Given the description of an element on the screen output the (x, y) to click on. 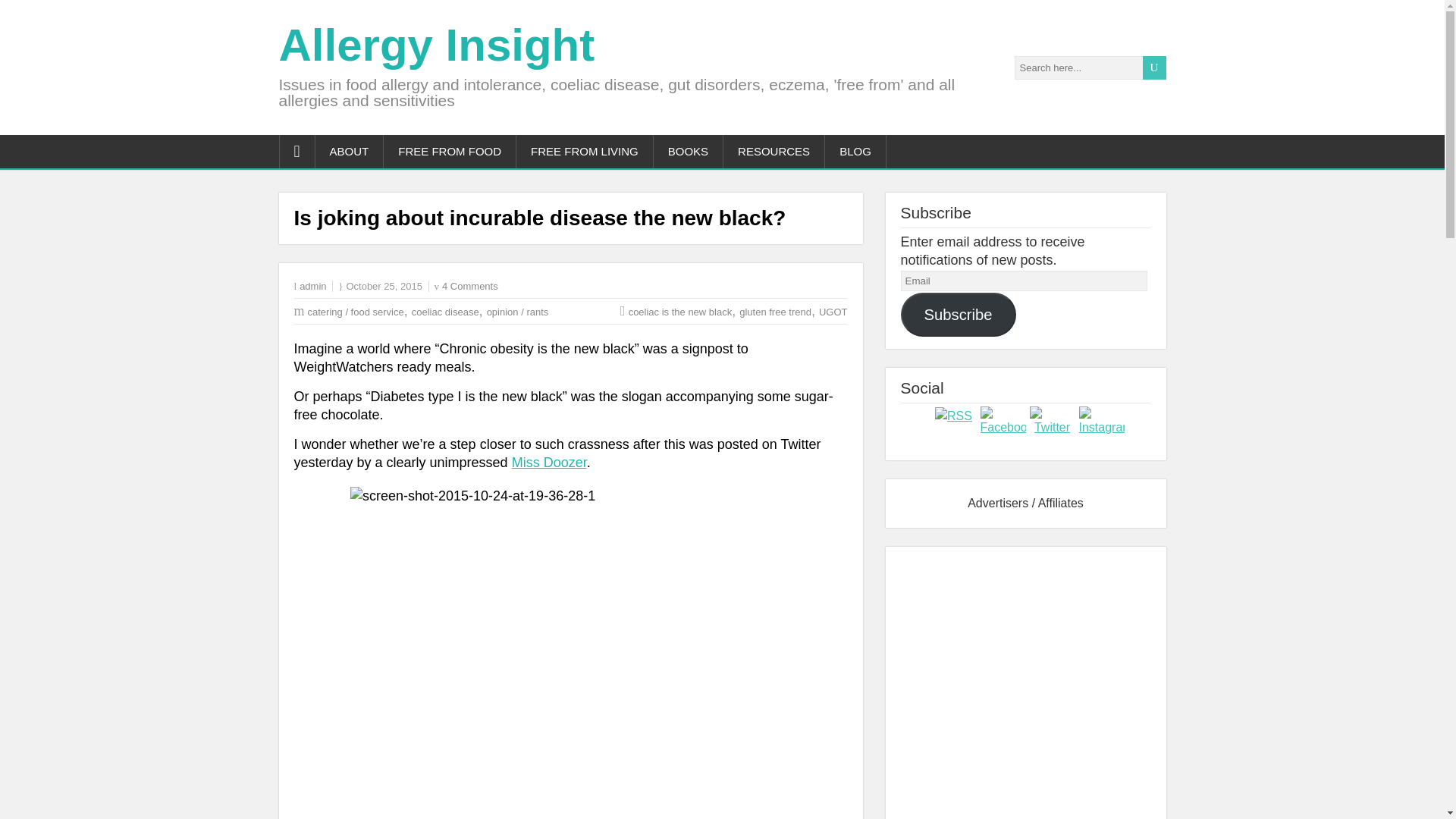
4 Comments (469, 285)
ABOUT (349, 151)
Allergy Insight (437, 44)
admin (312, 285)
U (1153, 67)
coeliac disease (445, 311)
FREE FROM LIVING (584, 151)
Posts by admin (312, 285)
RSS (953, 416)
U (1153, 67)
